Given the description of an element on the screen output the (x, y) to click on. 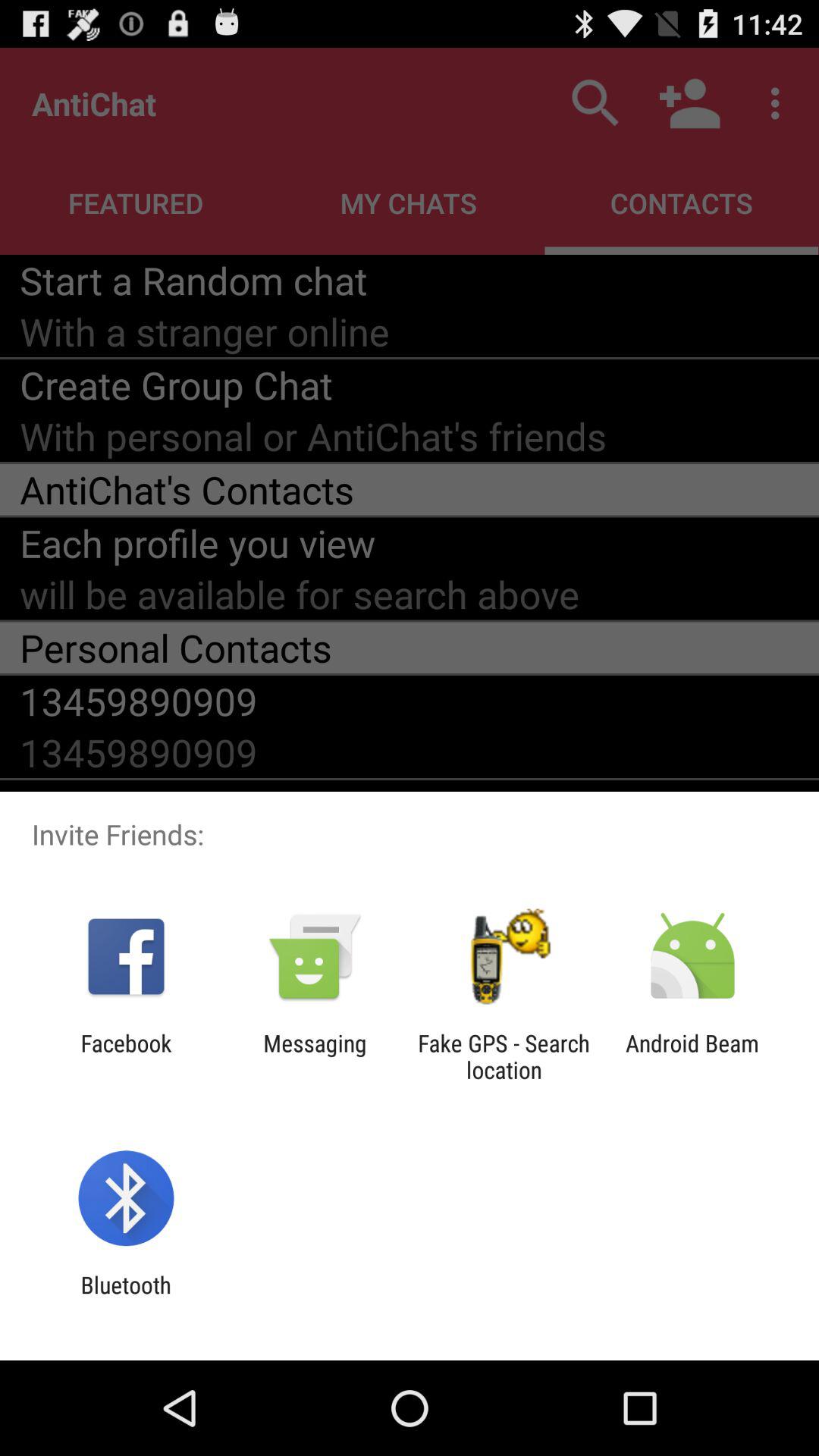
open messaging icon (314, 1056)
